Given the description of an element on the screen output the (x, y) to click on. 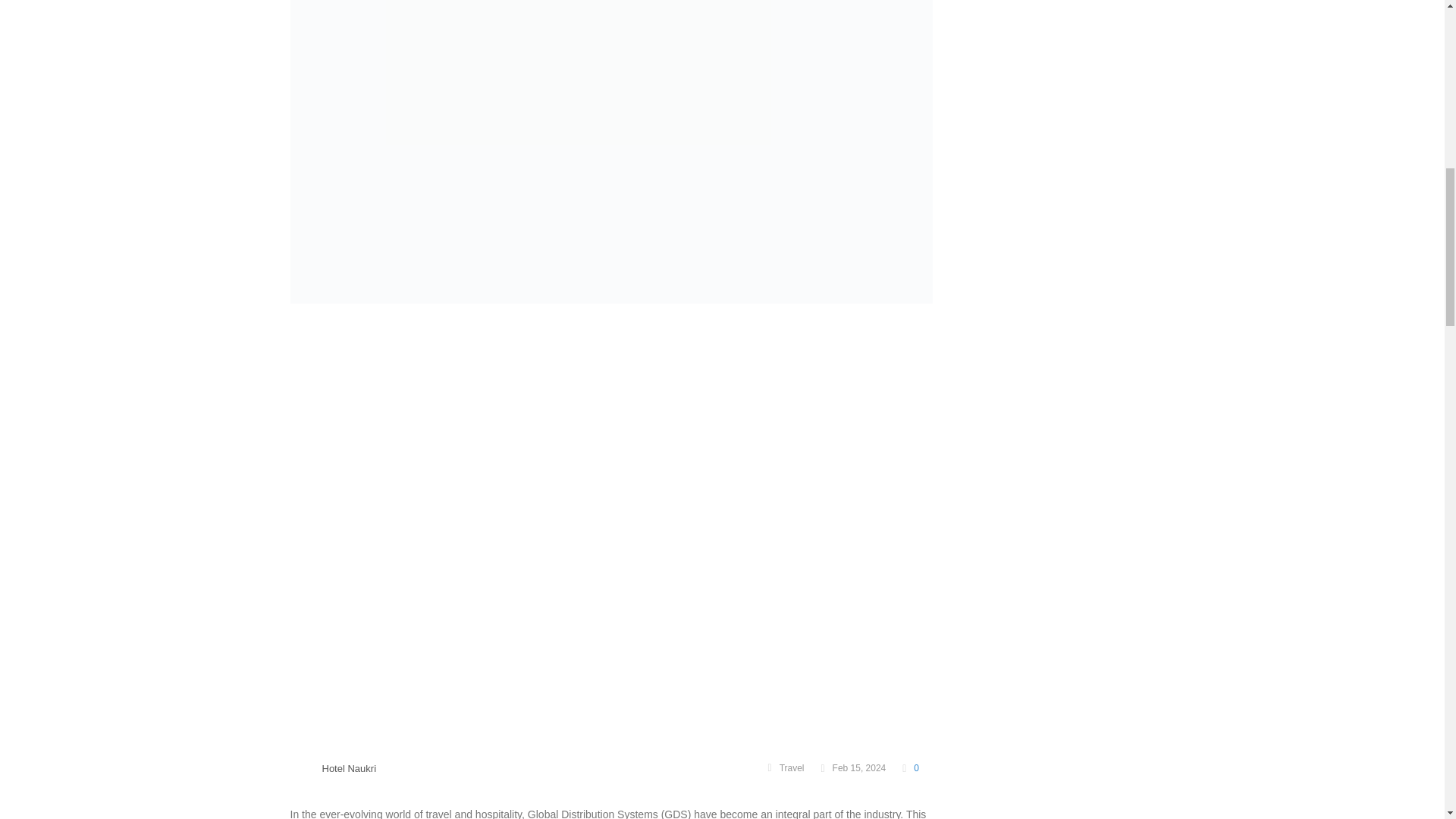
Feb 15, 2024 (853, 767)
0 (910, 767)
Travel (791, 767)
Hotel Naukri (348, 767)
